Given the description of an element on the screen output the (x, y) to click on. 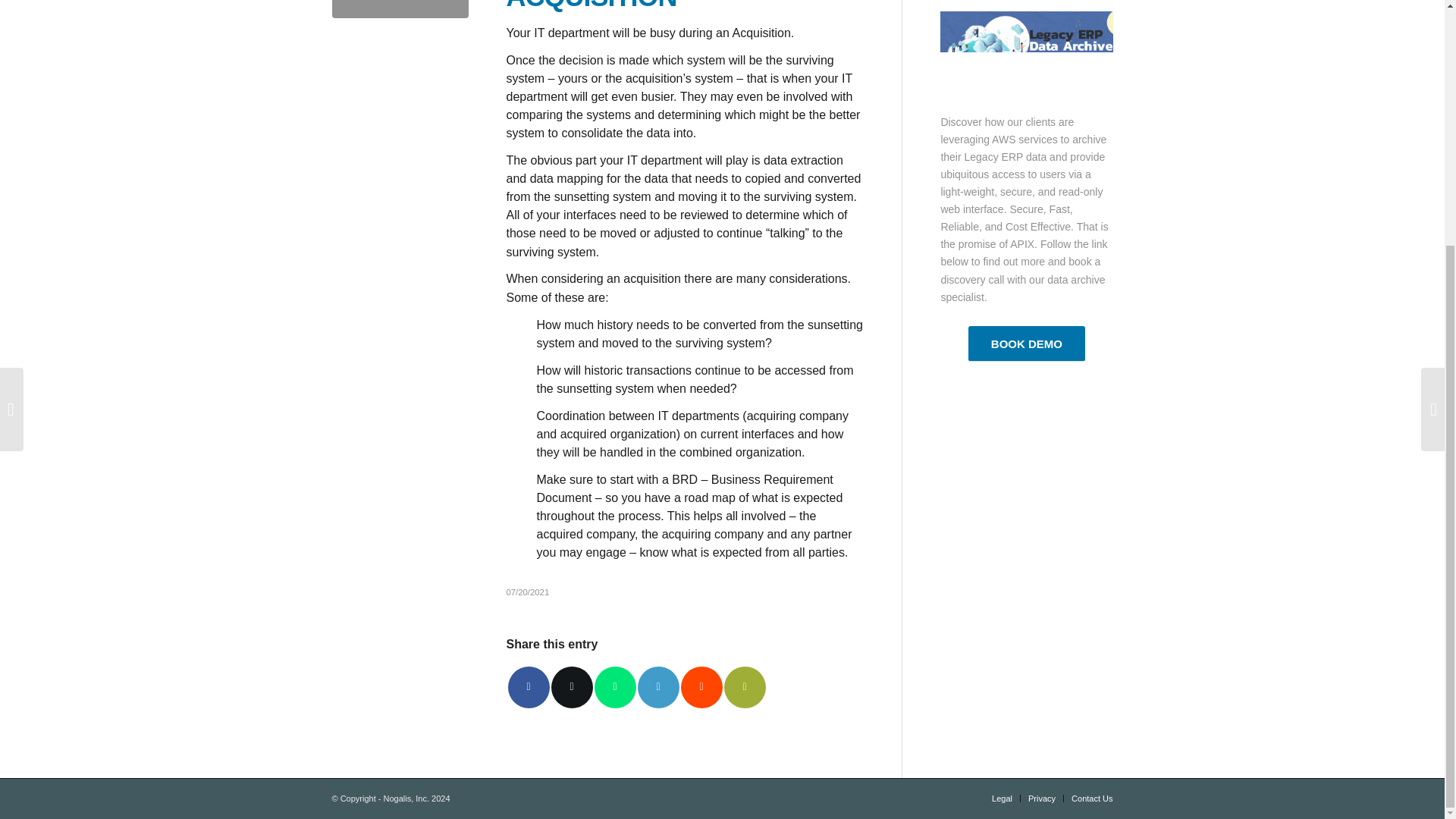
BOOK DEMO (1026, 343)
How-your-IT-department-will-be-affected-by-an-Acquisition (399, 9)
Contact Us (1091, 798)
Book a time to discuss your project with an expert (1026, 343)
Privacy (1041, 798)
Legal (1001, 798)
